Given the description of an element on the screen output the (x, y) to click on. 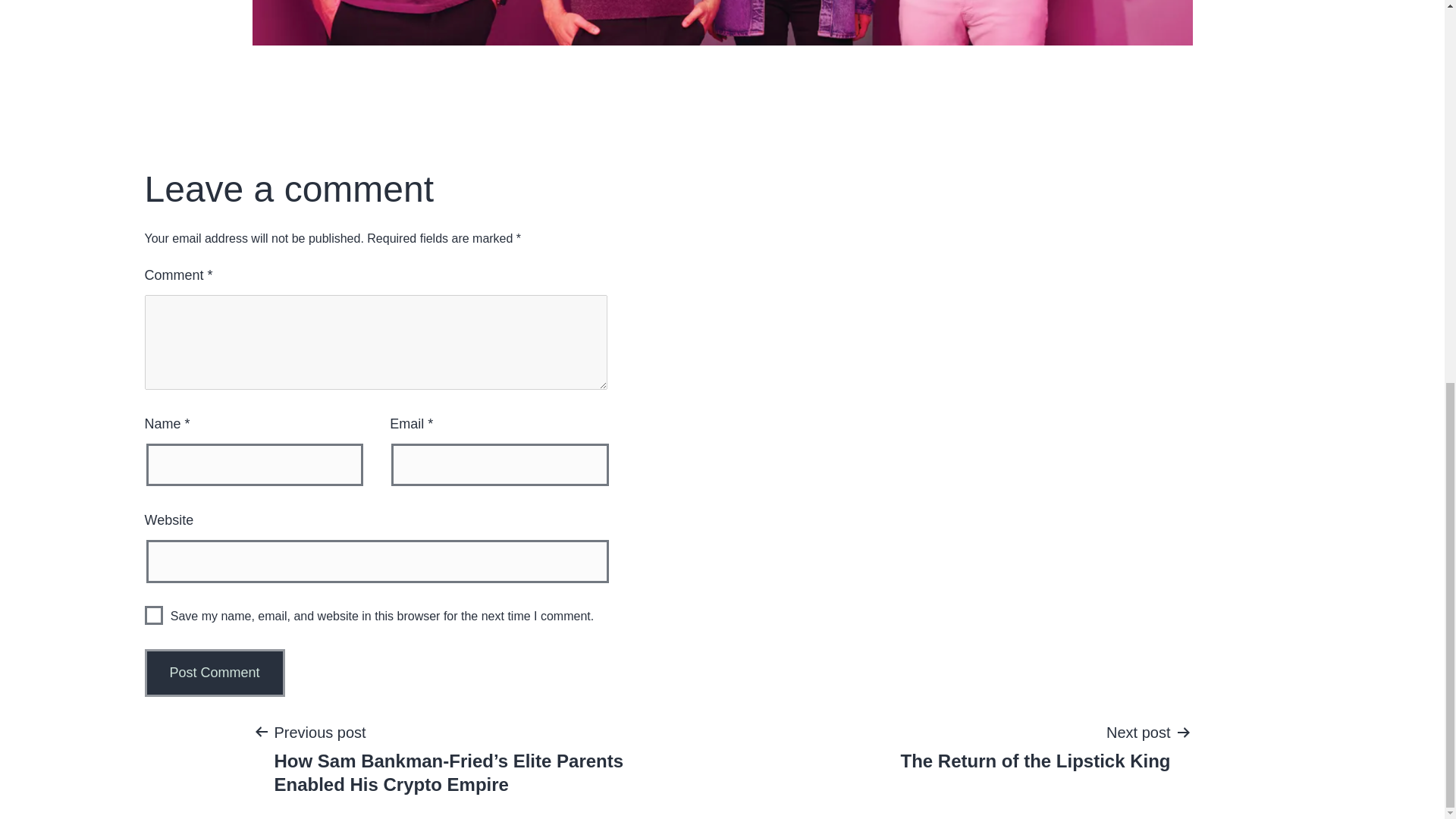
yes (152, 615)
Post Comment (213, 672)
Post Comment (213, 672)
